Given the description of an element on the screen output the (x, y) to click on. 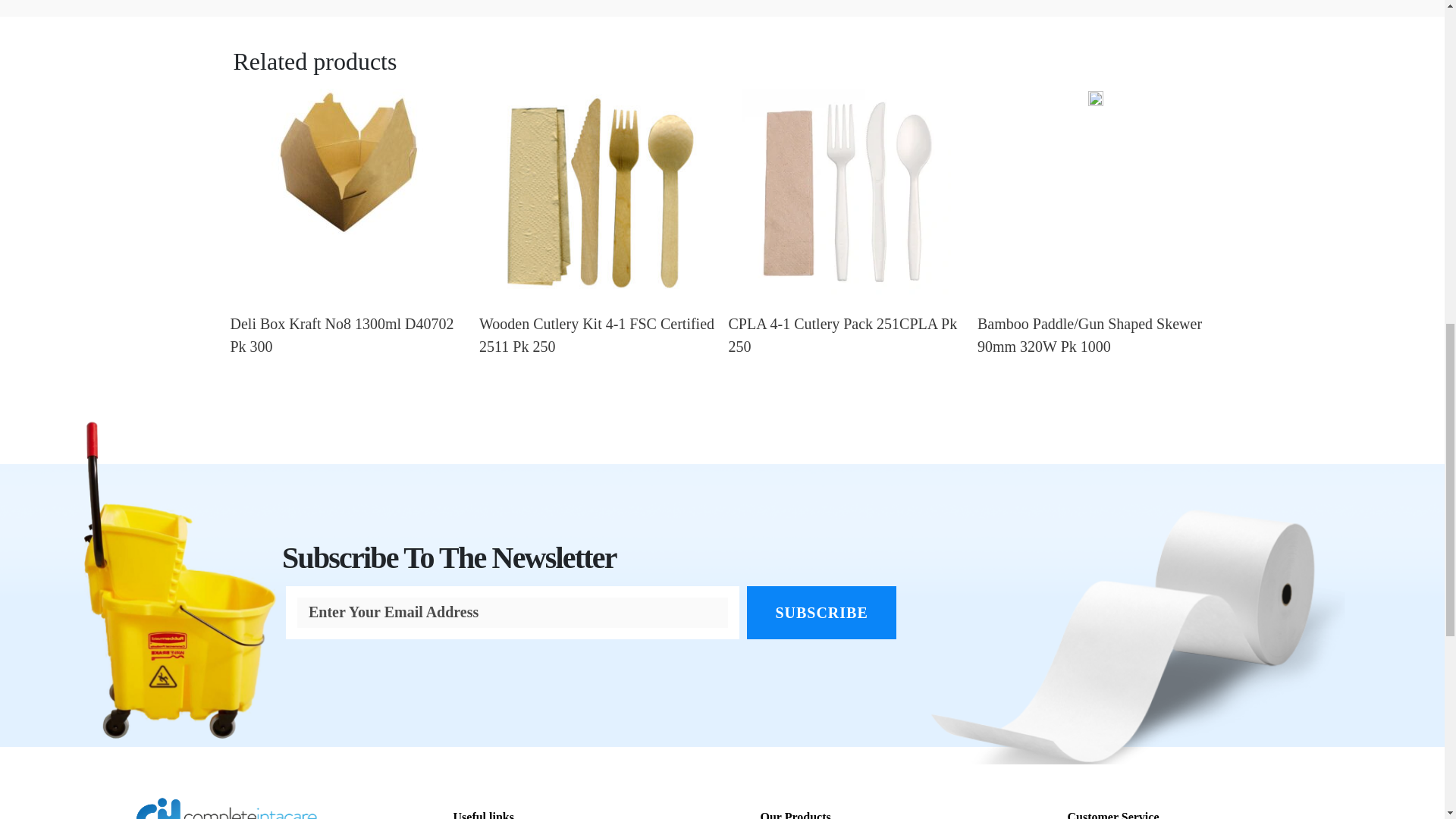
Subscribe (820, 612)
